Given the description of an element on the screen output the (x, y) to click on. 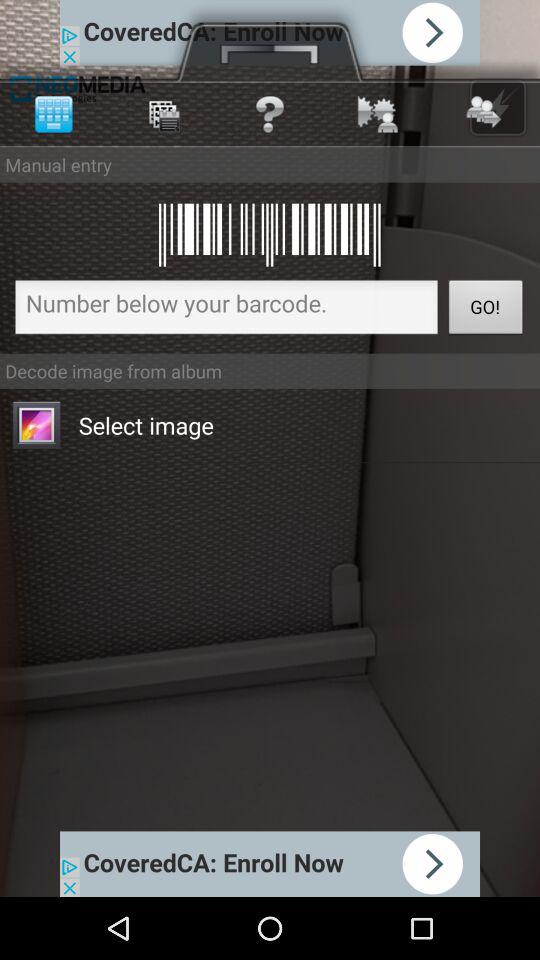
click on the field number below your barcode (226, 310)
click on the button which is next to the text field (485, 310)
click on the second button from the top right of the page (377, 114)
select the second tab icon from left side of the web page (161, 114)
click on the first button at top right corner of the page (485, 114)
click the tab icon on the top right corner of the web page (498, 107)
click on the first symbol at the top left corner of the page (53, 114)
